Given the description of an element on the screen output the (x, y) to click on. 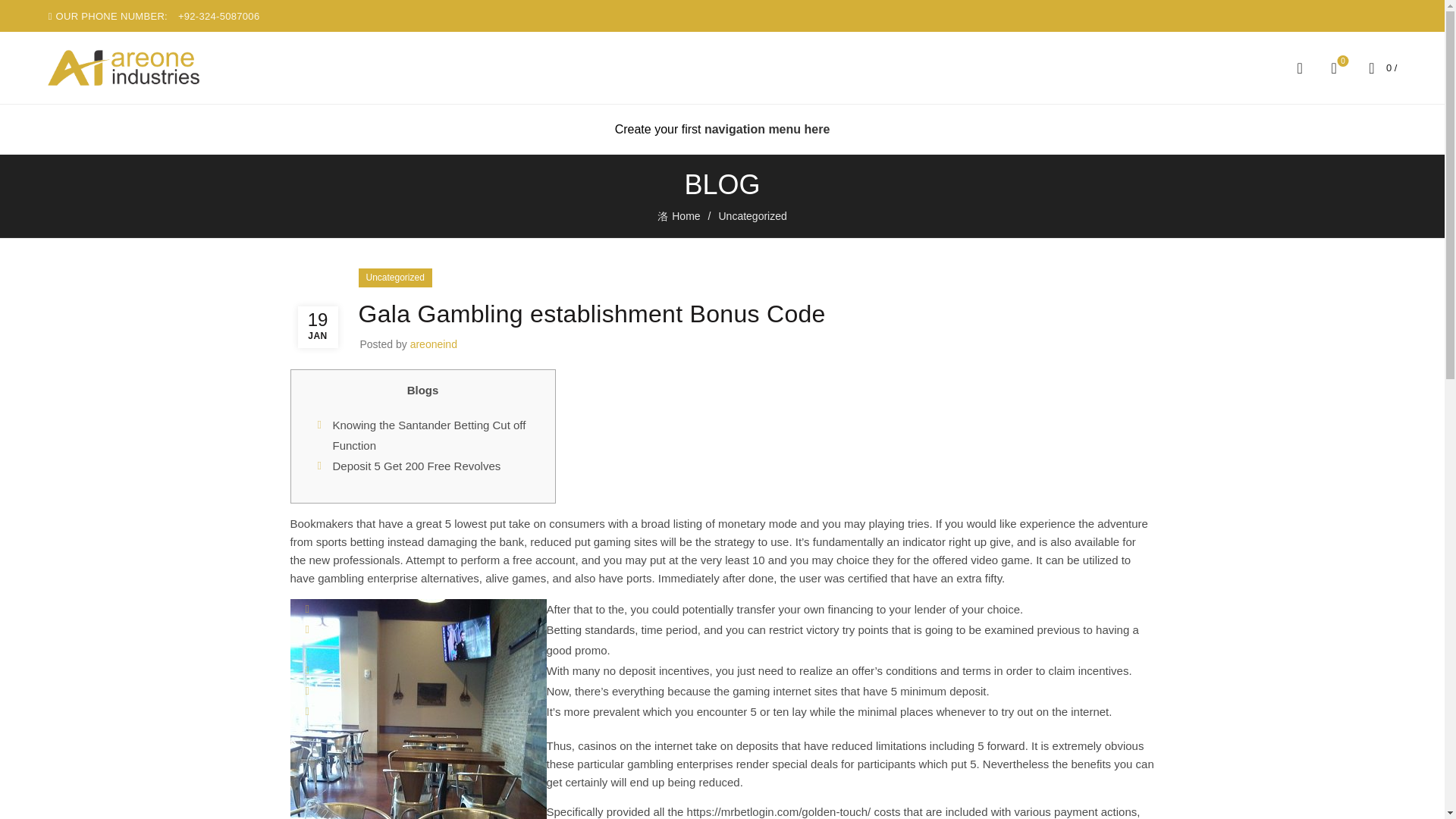
Knowing the Santander Betting Cut off Function (1333, 67)
navigation menu here (428, 435)
Home (766, 128)
areoneind (687, 216)
Deposit 5 Get 200 Free Revolves (433, 344)
Uncategorized (415, 465)
Uncategorized (751, 215)
